Given the description of an element on the screen output the (x, y) to click on. 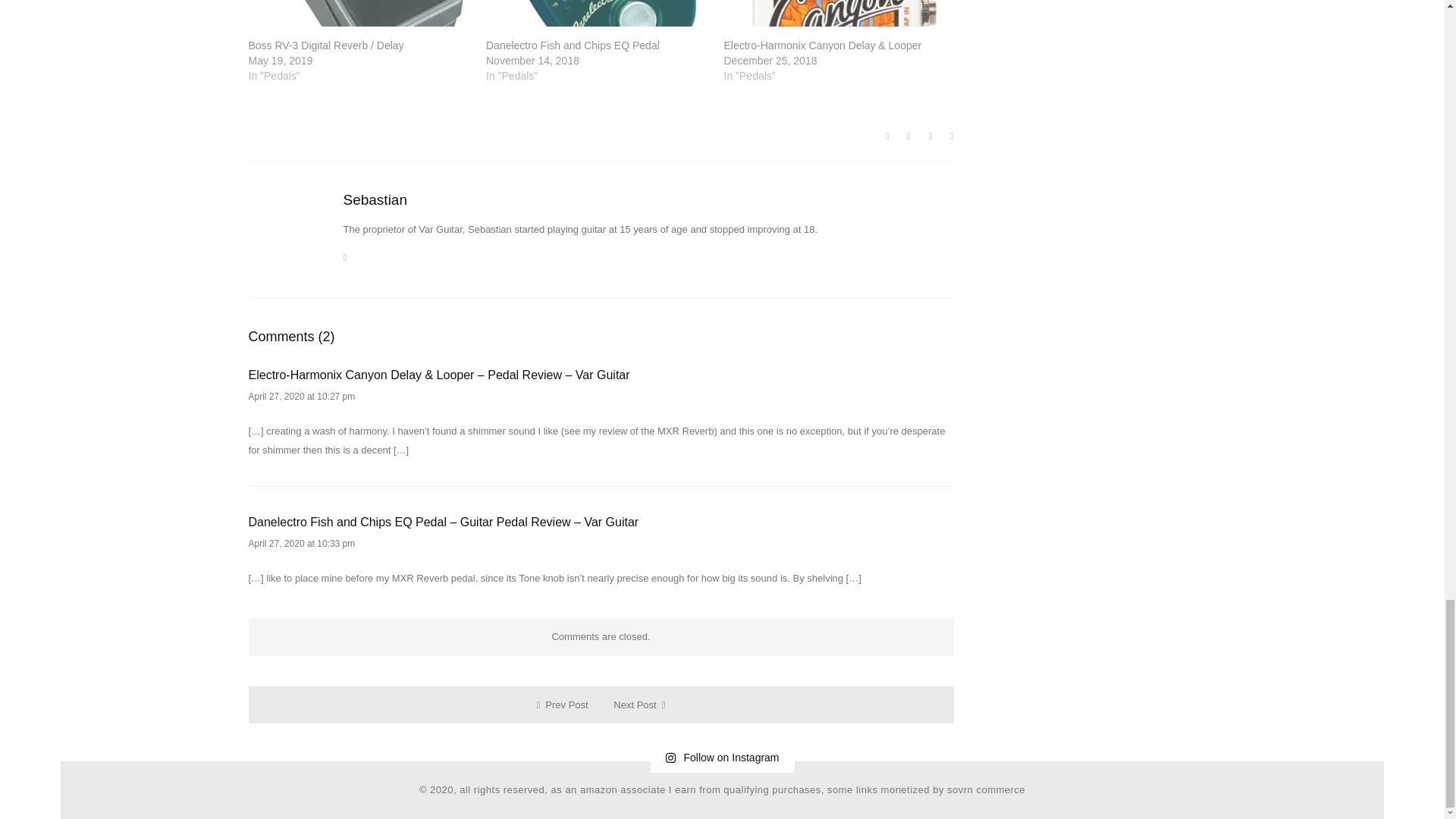
Follow on Instagram (721, 757)
Prev Post (564, 704)
Danelectro Fish and Chips EQ Pedal (597, 13)
Danelectro Fish and Chips EQ Pedal (572, 45)
Next Post (638, 704)
Danelectro Fish and Chips EQ Pedal (572, 45)
